Given the description of an element on the screen output the (x, y) to click on. 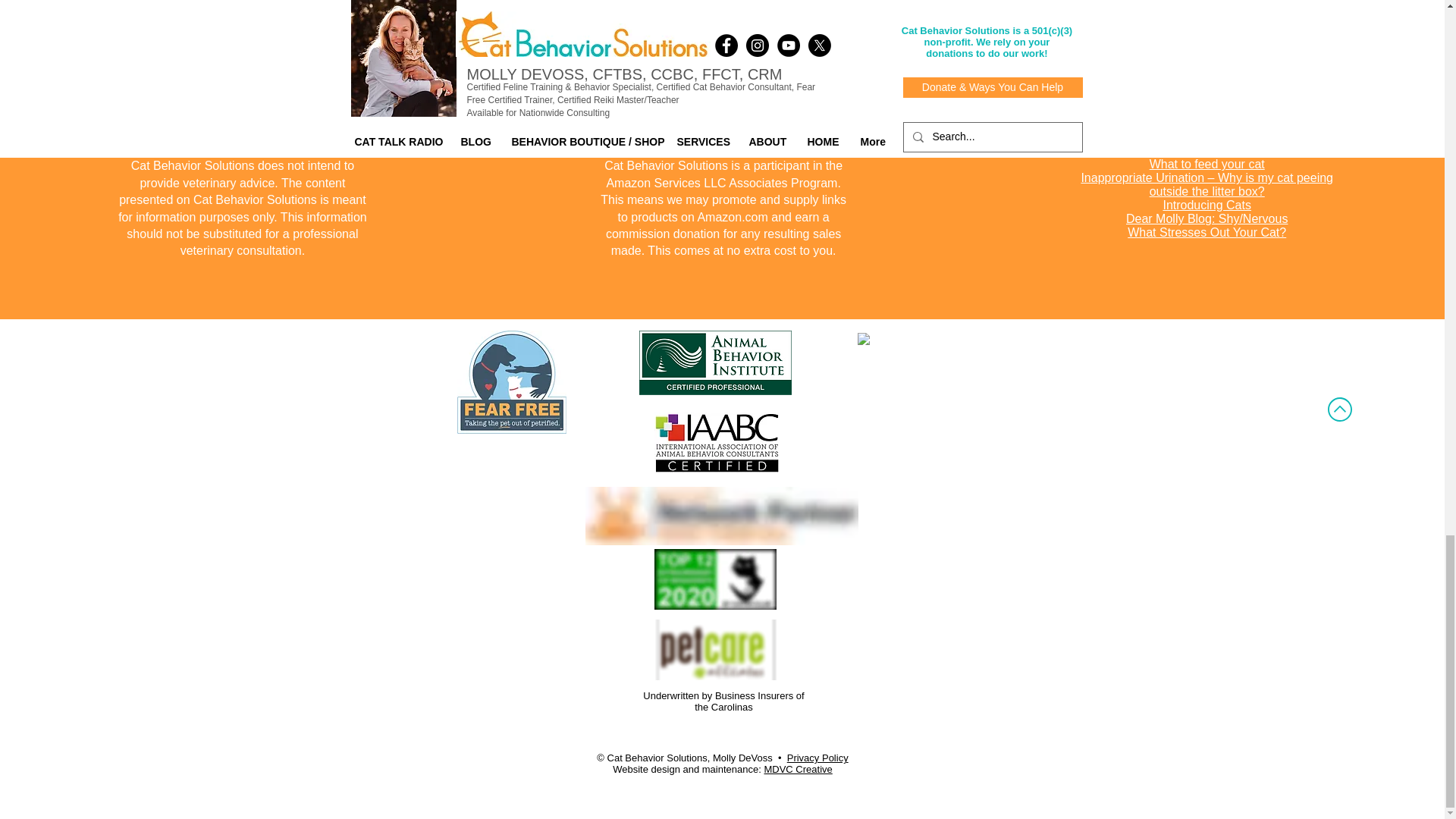
Embedded Content (911, 393)
